Given the description of an element on the screen output the (x, y) to click on. 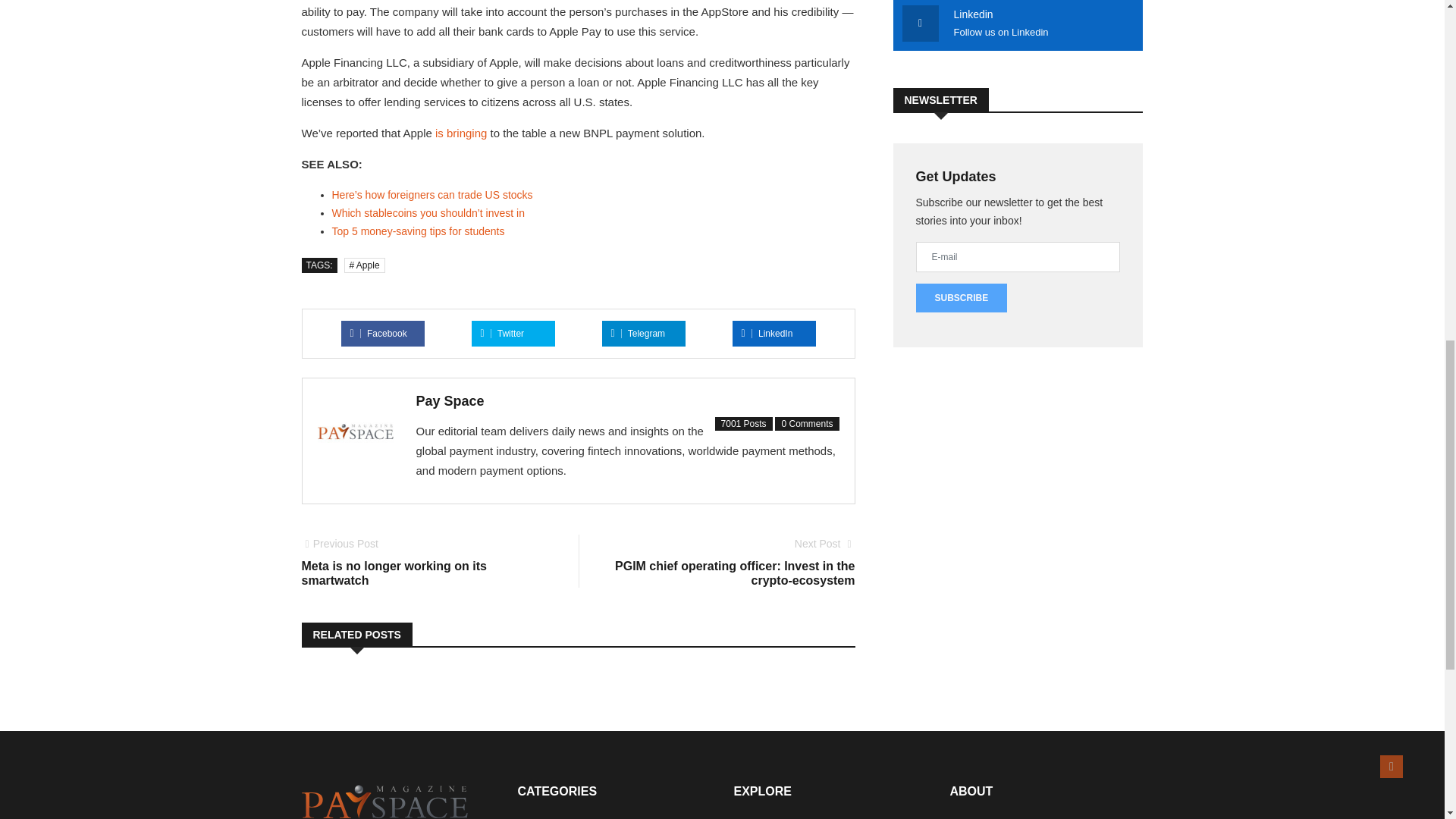
Telegram (638, 333)
is bringing (460, 132)
Twitter (502, 333)
Top 5 money-saving tips for students (418, 231)
LinkedIn (424, 562)
Facebook (767, 333)
